Given the description of an element on the screen output the (x, y) to click on. 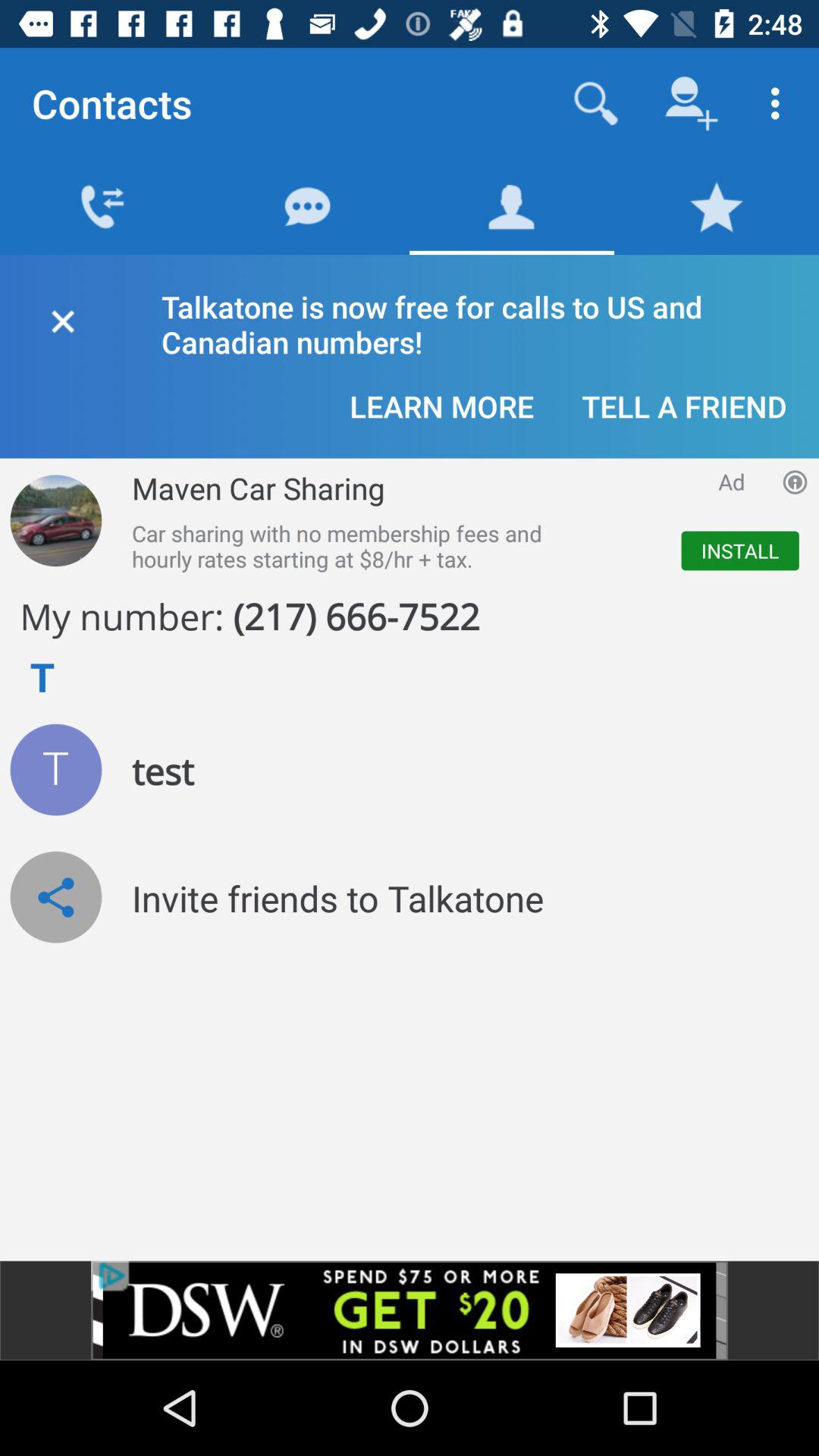
view more information (795, 482)
